Given the description of an element on the screen output the (x, y) to click on. 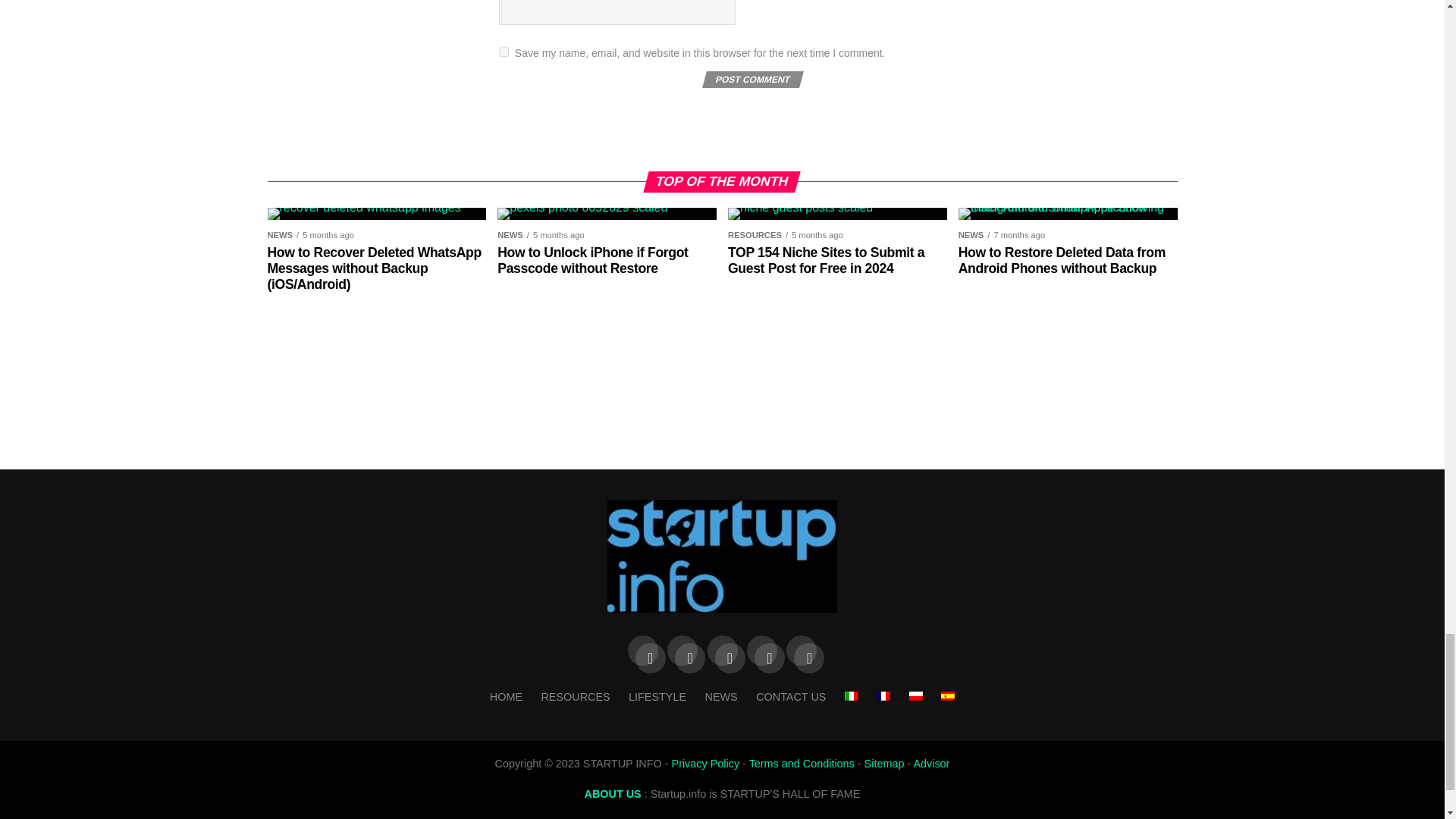
yes (503, 51)
Post Comment (750, 79)
